Given the description of an element on the screen output the (x, y) to click on. 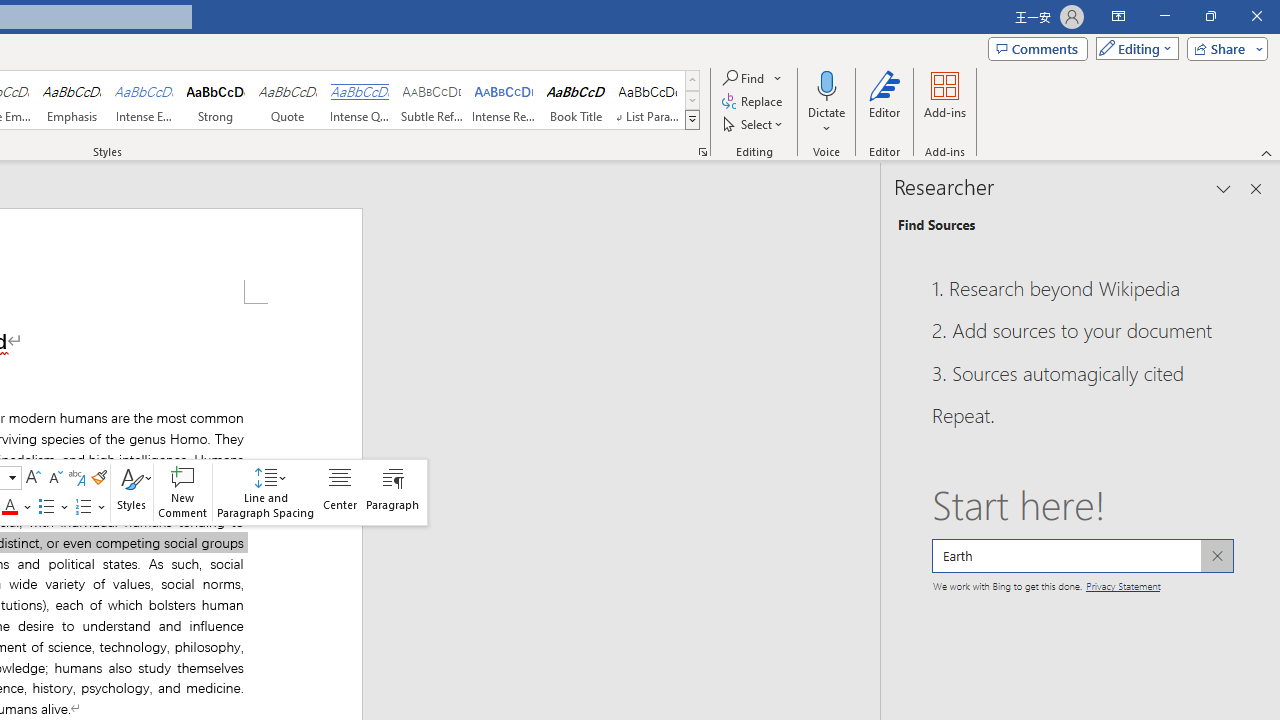
Intense Quote (359, 100)
Book Title (575, 100)
Intense Reference (504, 100)
Research people, events, concepts, and places (1082, 556)
Privacy Statement (1122, 584)
Subtle Reference (431, 100)
